Given the description of an element on the screen output the (x, y) to click on. 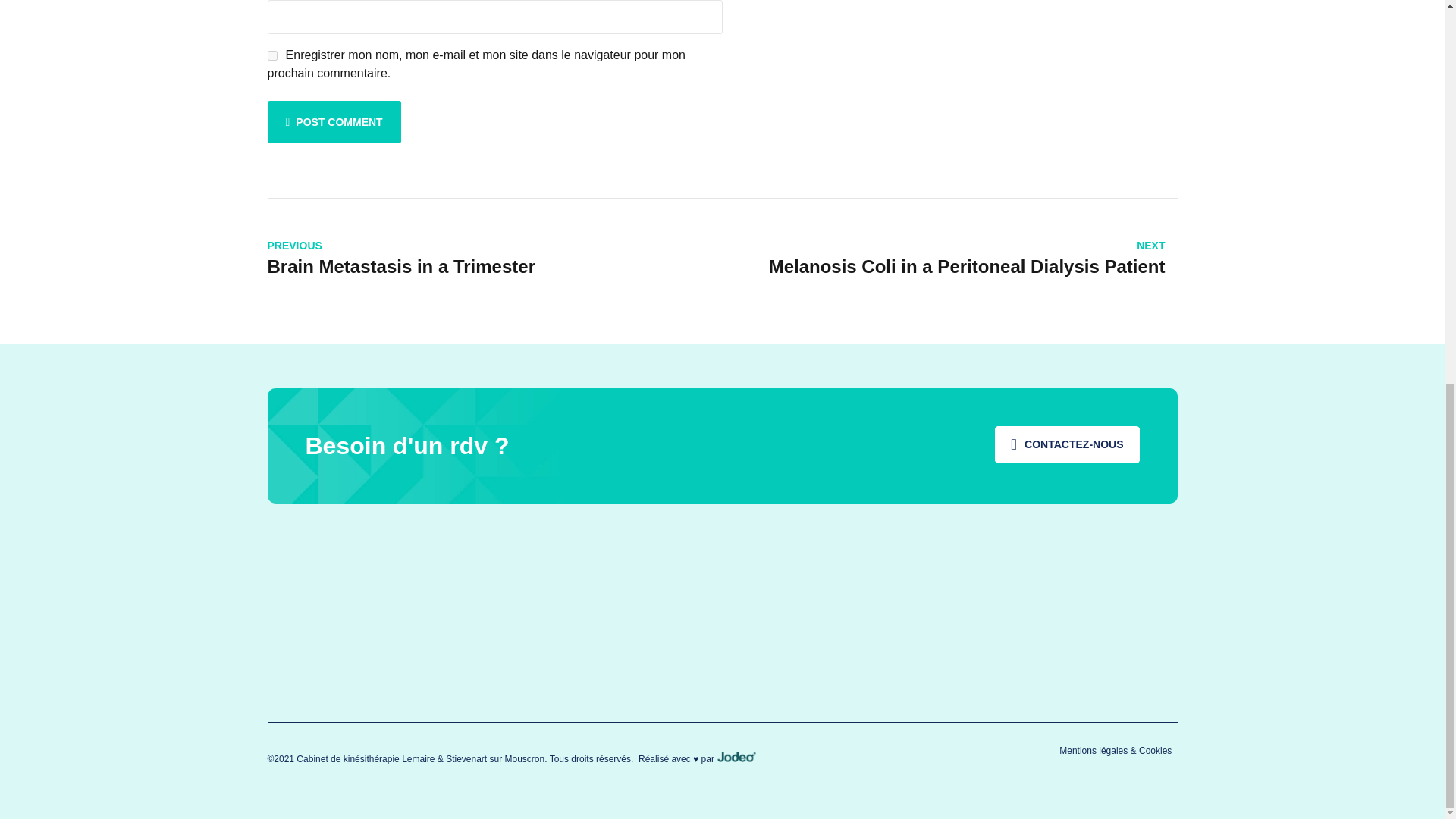
Jodeo (735, 756)
CONTACTEZ-NOUS (1066, 444)
POST COMMENT (333, 121)
yes (271, 55)
CONTACTEZ-NOUS (946, 258)
